Given the description of an element on the screen output the (x, y) to click on. 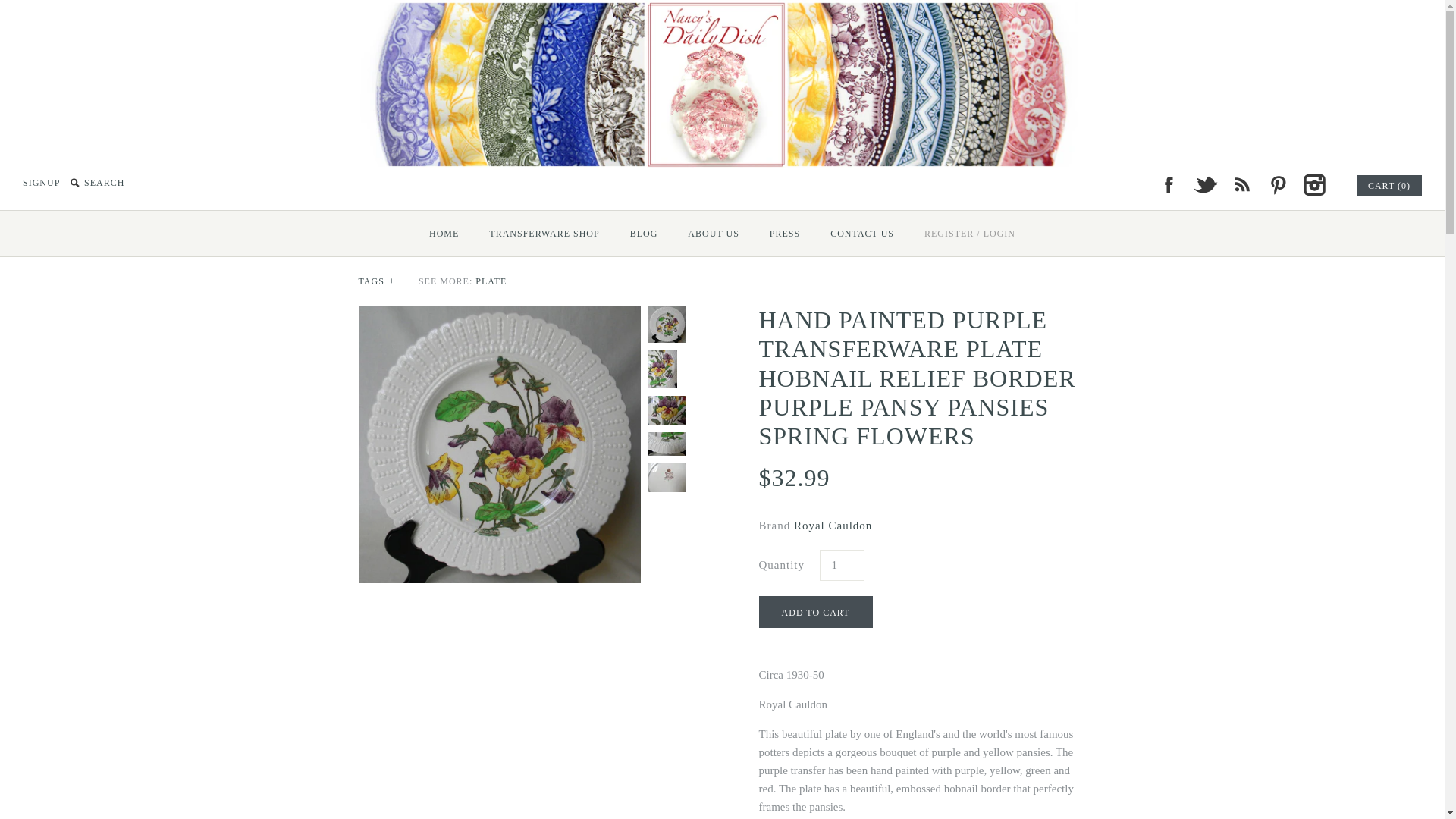
Instagram (1313, 184)
Nancy's Daily Dish (722, 9)
Add to Cart (815, 612)
RSS (1240, 184)
ABOUT US (713, 233)
TRANSFERWARE SHOP (544, 233)
1 (840, 564)
FACEBOOK (1168, 184)
INSTAGRAM (1313, 184)
TWITTER (1204, 184)
REGISTER (949, 233)
Twitter (1204, 184)
PINTEREST (1277, 184)
Pinterest (1277, 184)
PRESS (784, 233)
